Given the description of an element on the screen output the (x, y) to click on. 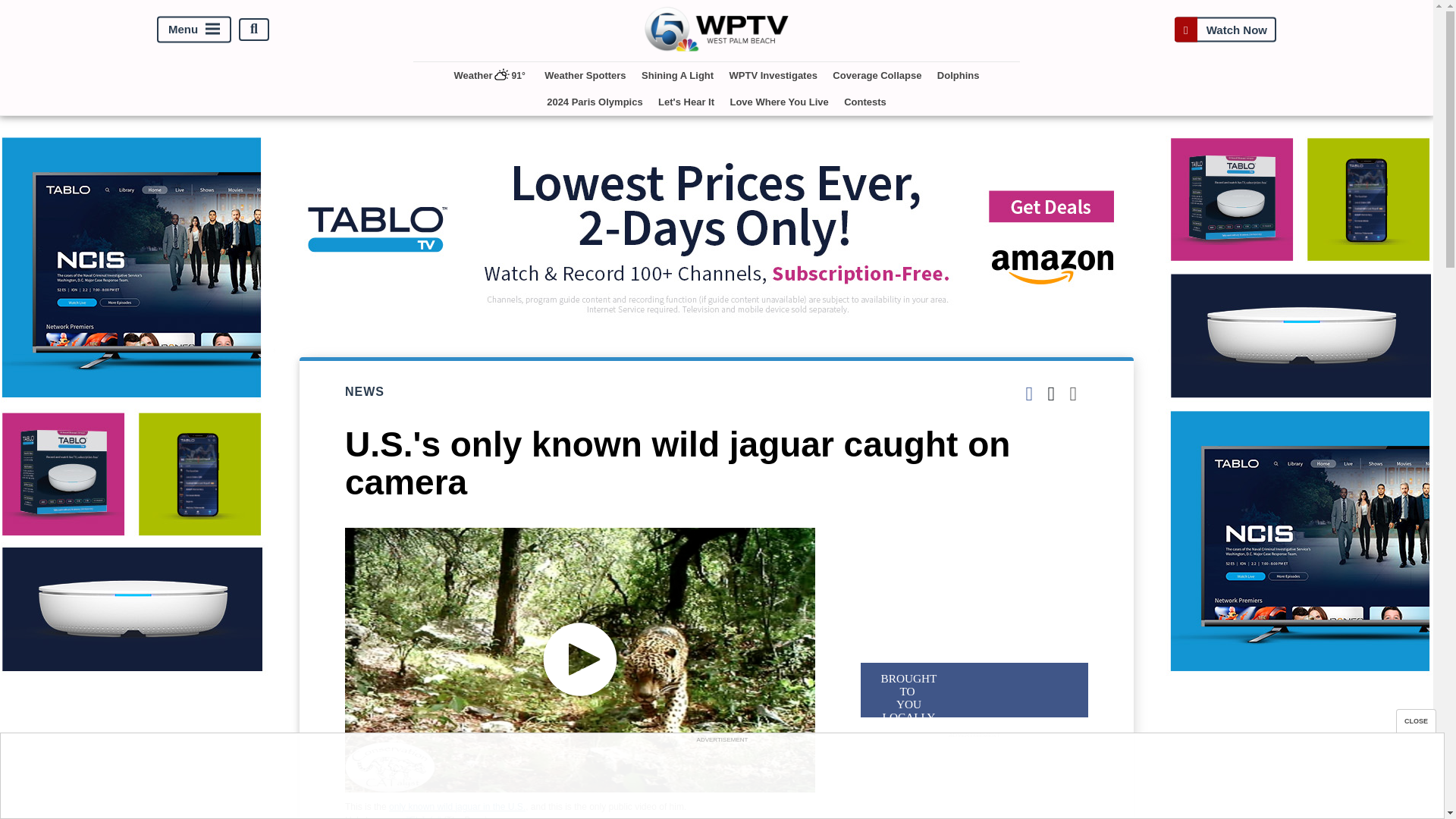
Menu (194, 28)
3rd party ad content (973, 780)
Watch Now (1224, 29)
3rd party ad content (721, 780)
